Given the description of an element on the screen output the (x, y) to click on. 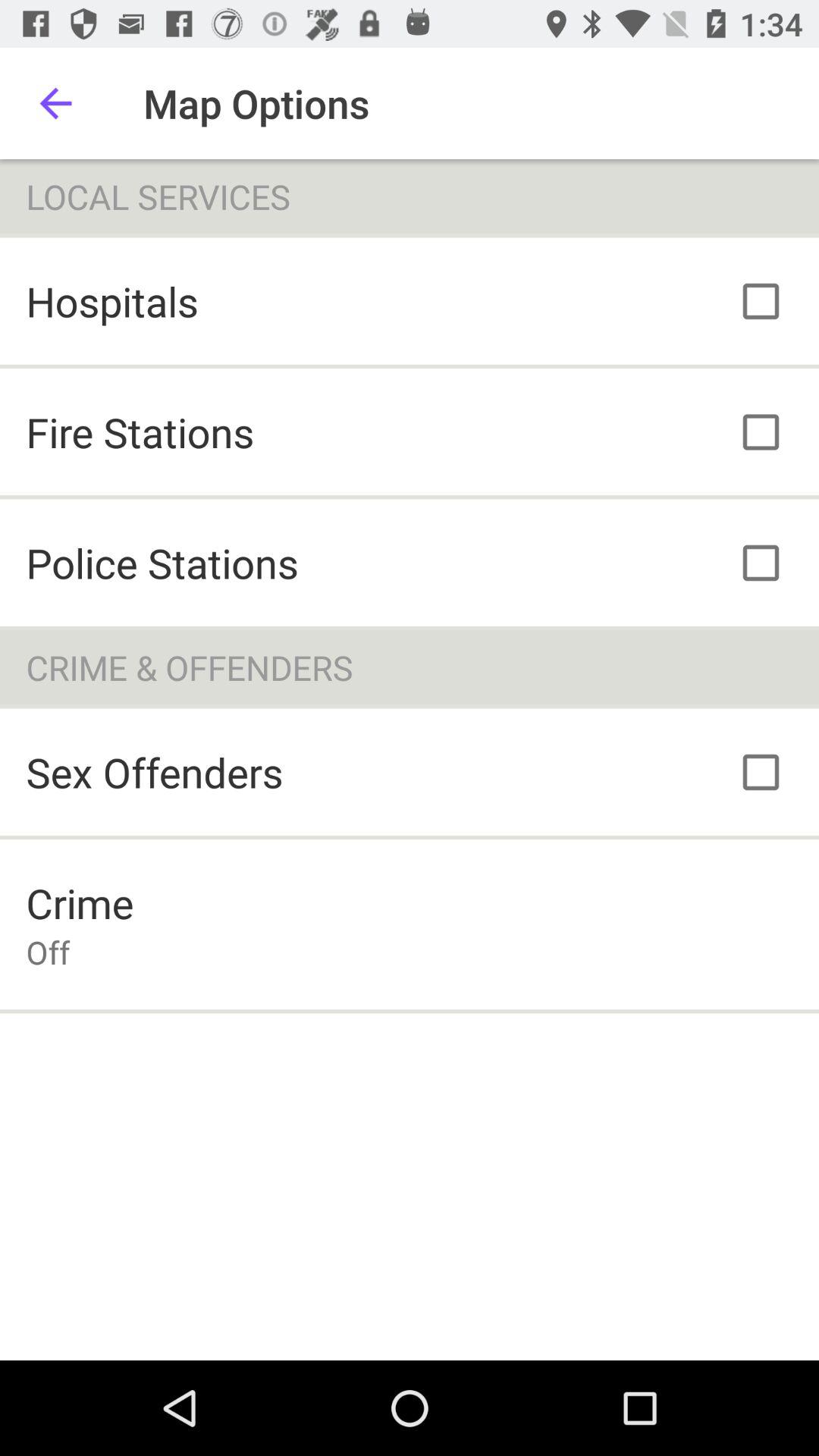
turn on the icon below local services (112, 300)
